Given the description of an element on the screen output the (x, y) to click on. 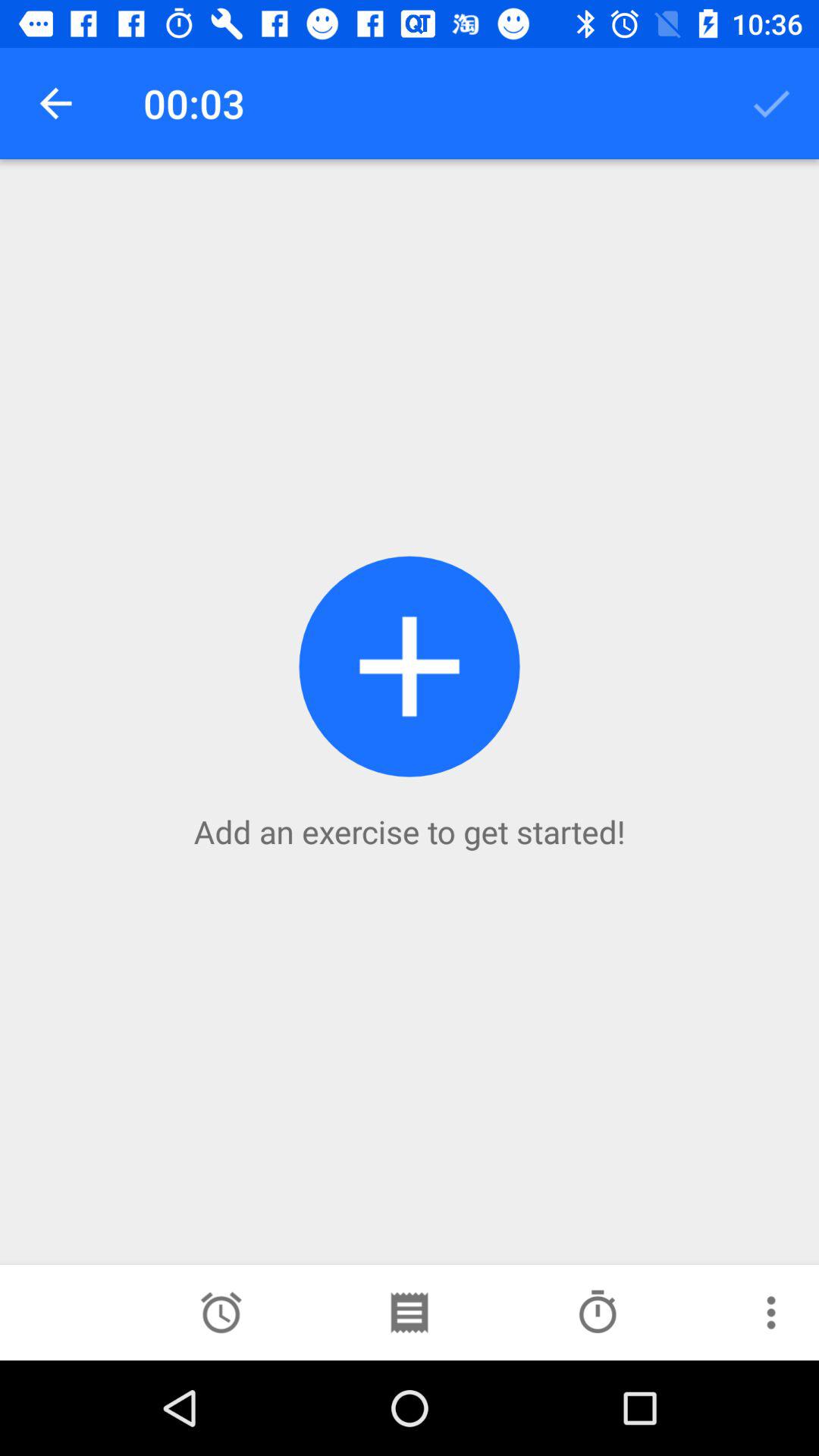
launch the item below the add an exercise item (409, 1312)
